Given the description of an element on the screen output the (x, y) to click on. 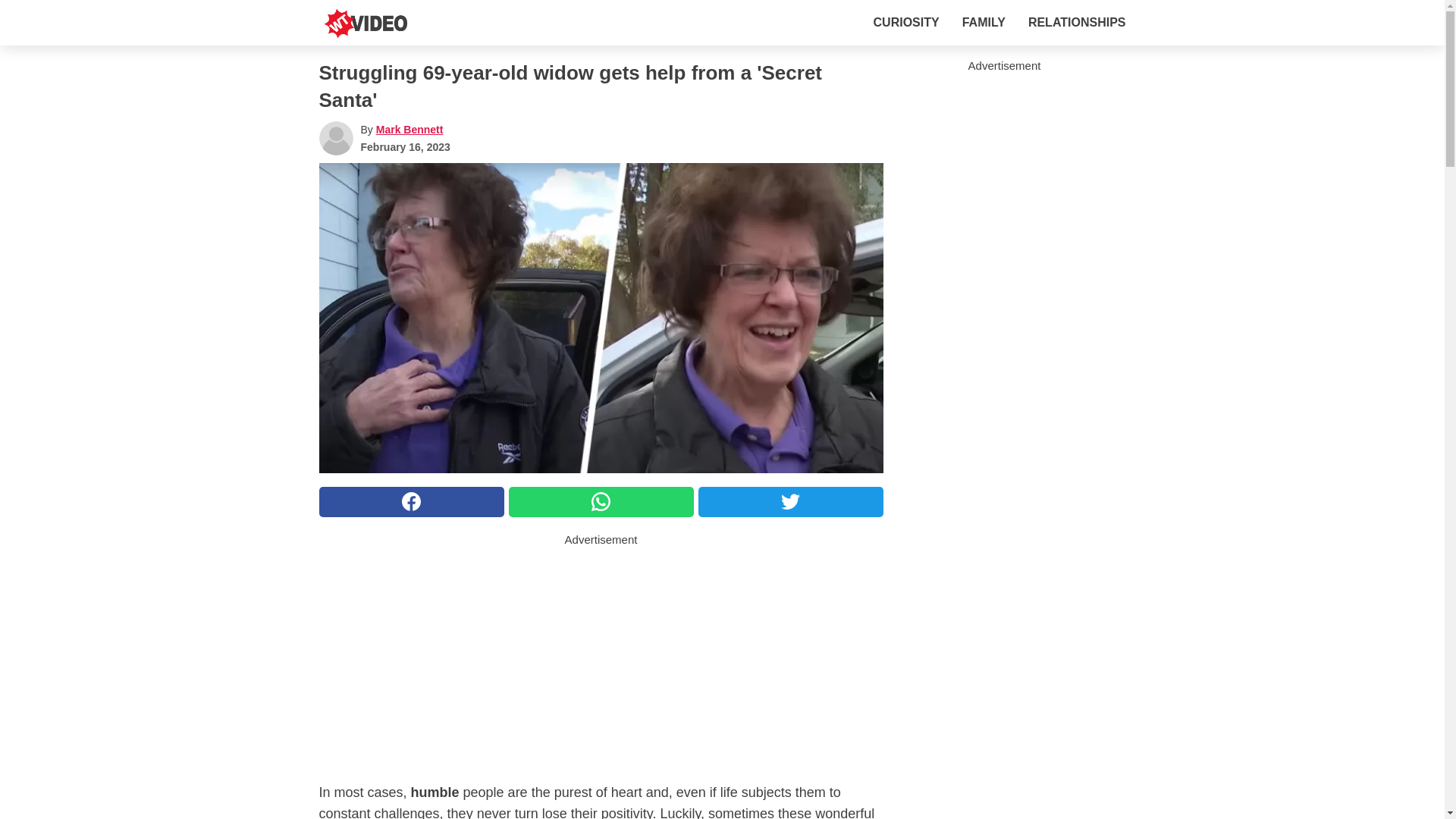
RELATIONSHIPS (1076, 22)
CURIOSITY (906, 22)
FAMILY (984, 22)
Mark Bennett (409, 129)
